Given the description of an element on the screen output the (x, y) to click on. 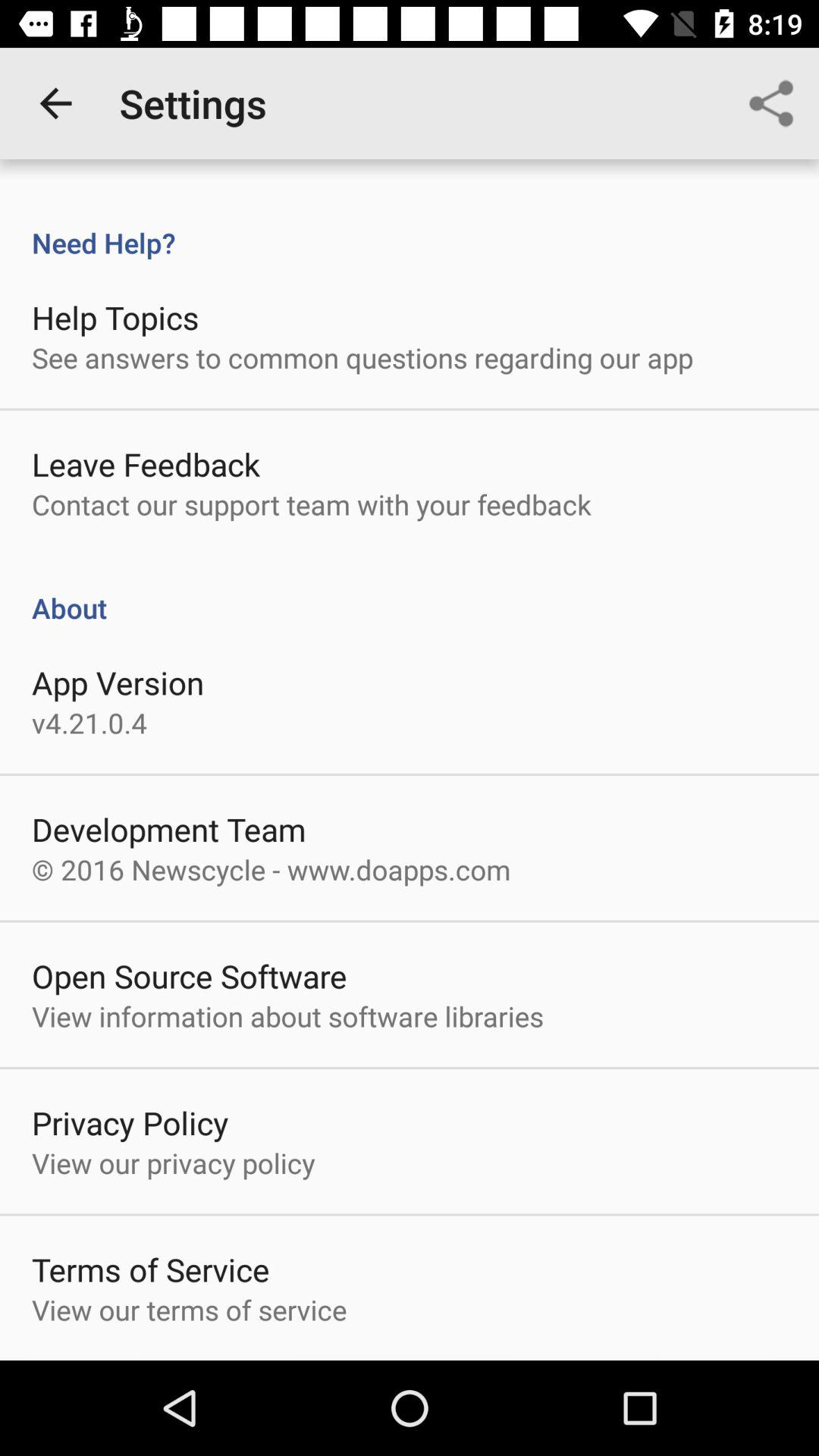
choose icon above 2016 newscycle www icon (168, 828)
